Given the description of an element on the screen output the (x, y) to click on. 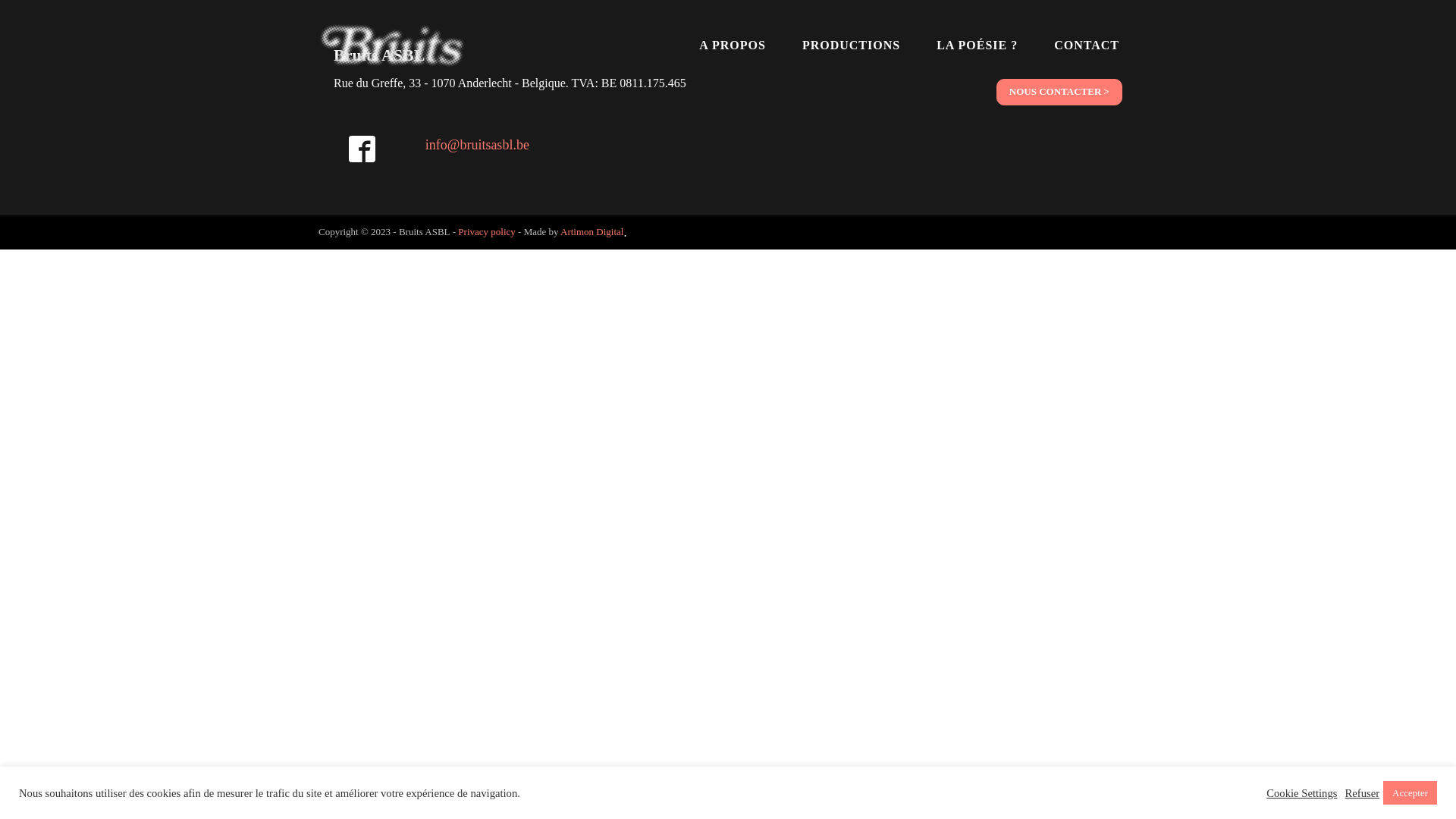
PRODUCTIONS Element type: text (851, 45)
info@bruitsasbl.be Element type: text (477, 144)
CONTACT Element type: text (1086, 45)
Privacy policy Element type: text (486, 231)
NOUS CONTACTER > Element type: text (1059, 91)
A PROPOS Element type: text (732, 45)
Cookie Settings Element type: text (1301, 792)
Artimon Digital Element type: text (591, 231)
Accepter Element type: text (1410, 792)
Refuser Element type: text (1361, 792)
